Given the description of an element on the screen output the (x, y) to click on. 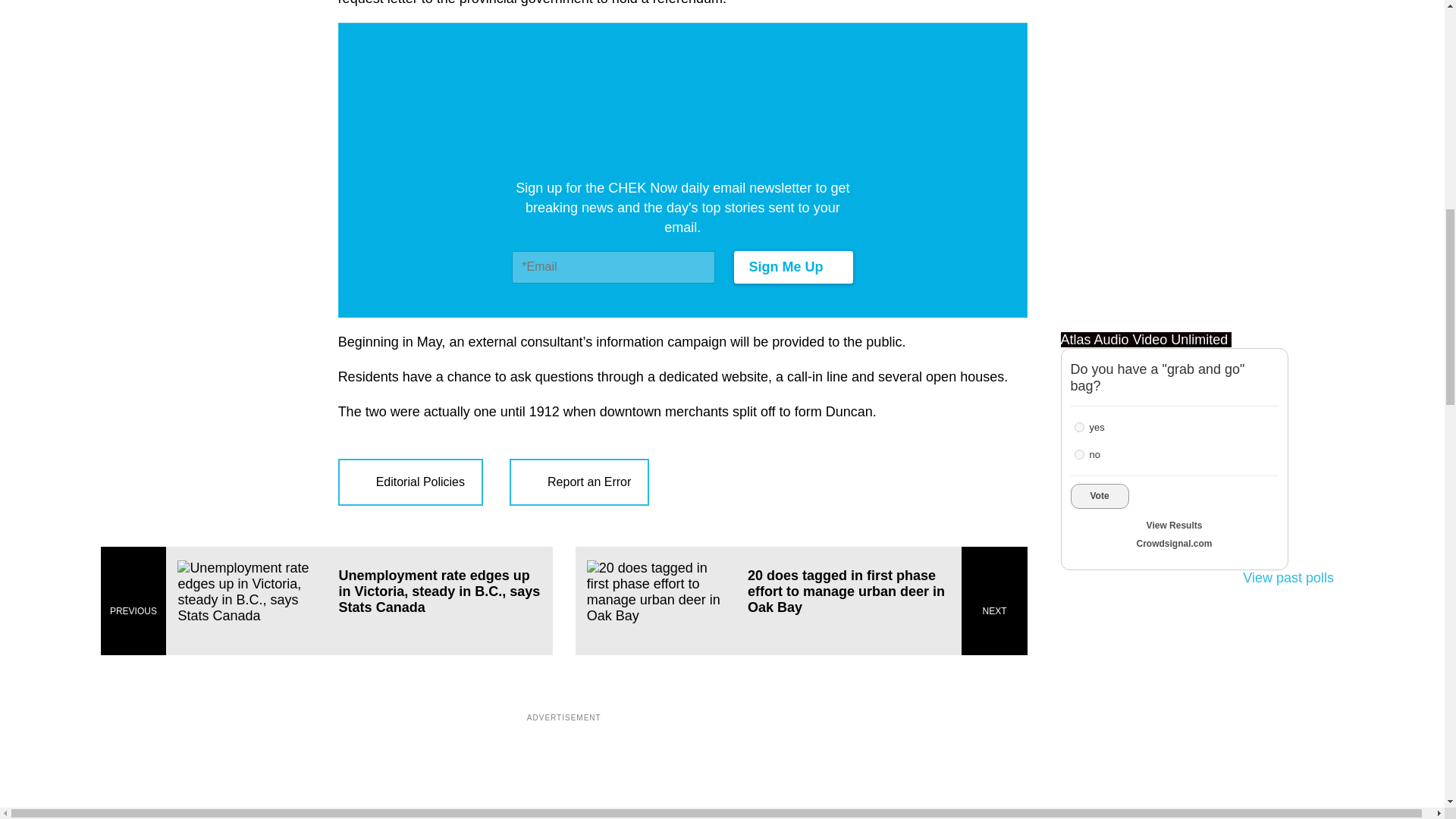
62900255 (1078, 427)
62900256 (1078, 454)
